Given the description of an element on the screen output the (x, y) to click on. 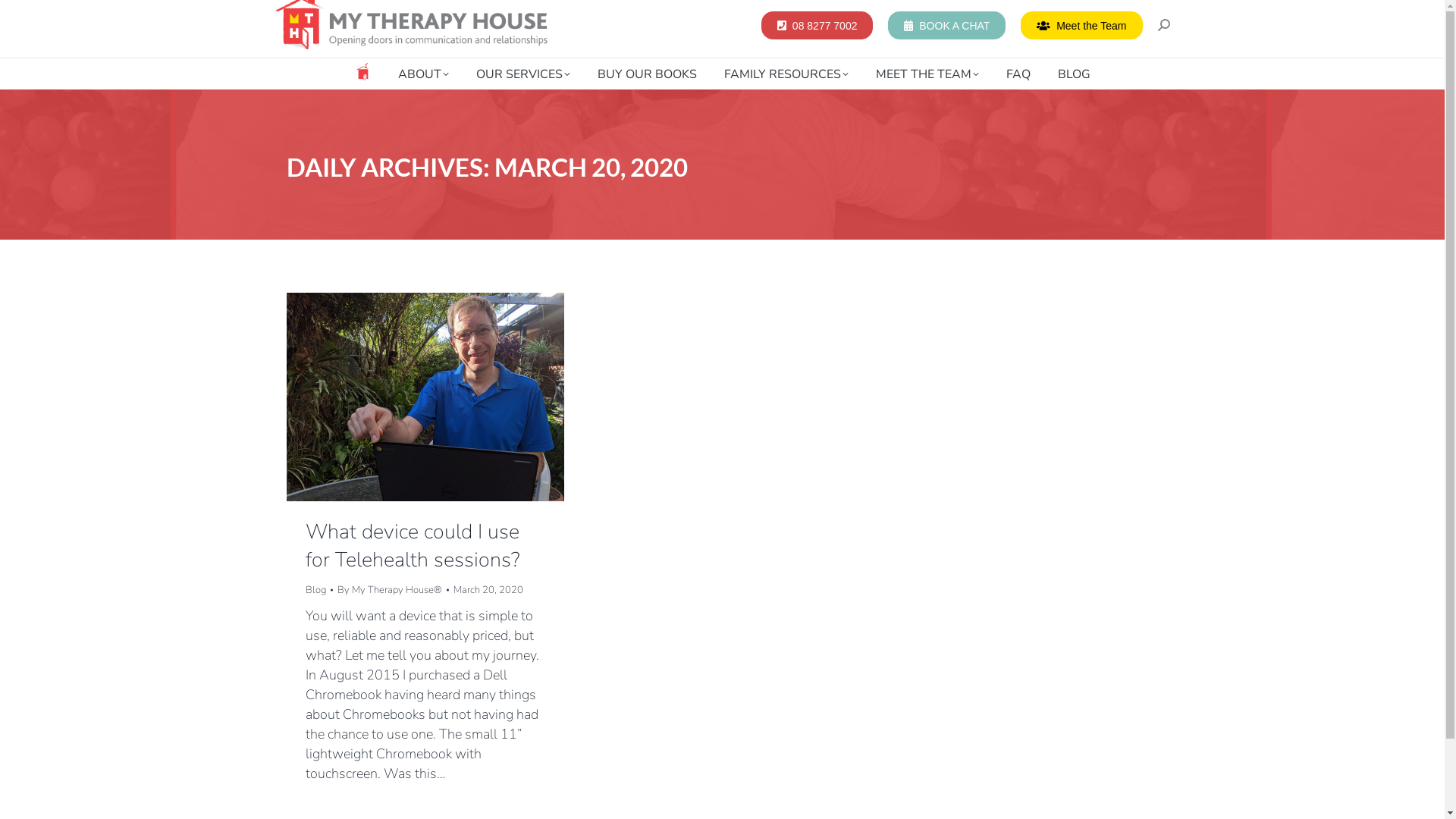
  BOOK A CHAT Element type: text (946, 24)
March 20, 2020 Element type: text (488, 589)
OUR SERVICES Element type: text (523, 73)
FAMILY RESOURCES Element type: text (785, 73)
chromebook-blog-1 Element type: hover (425, 396)
BUY OUR BOOKS Element type: text (646, 73)
MEET THE TEAM Element type: text (926, 73)
BLOG Element type: text (1073, 73)
Blog Element type: text (314, 589)
FAQ Element type: text (1017, 73)
What device could I use for Telehealth sessions? Element type: text (411, 545)
Go! Element type: text (22, 15)
  08 8277 7002 Element type: text (816, 24)
ABOUT Element type: text (422, 73)
  Meet the Team Element type: text (1081, 24)
